Given the description of an element on the screen output the (x, y) to click on. 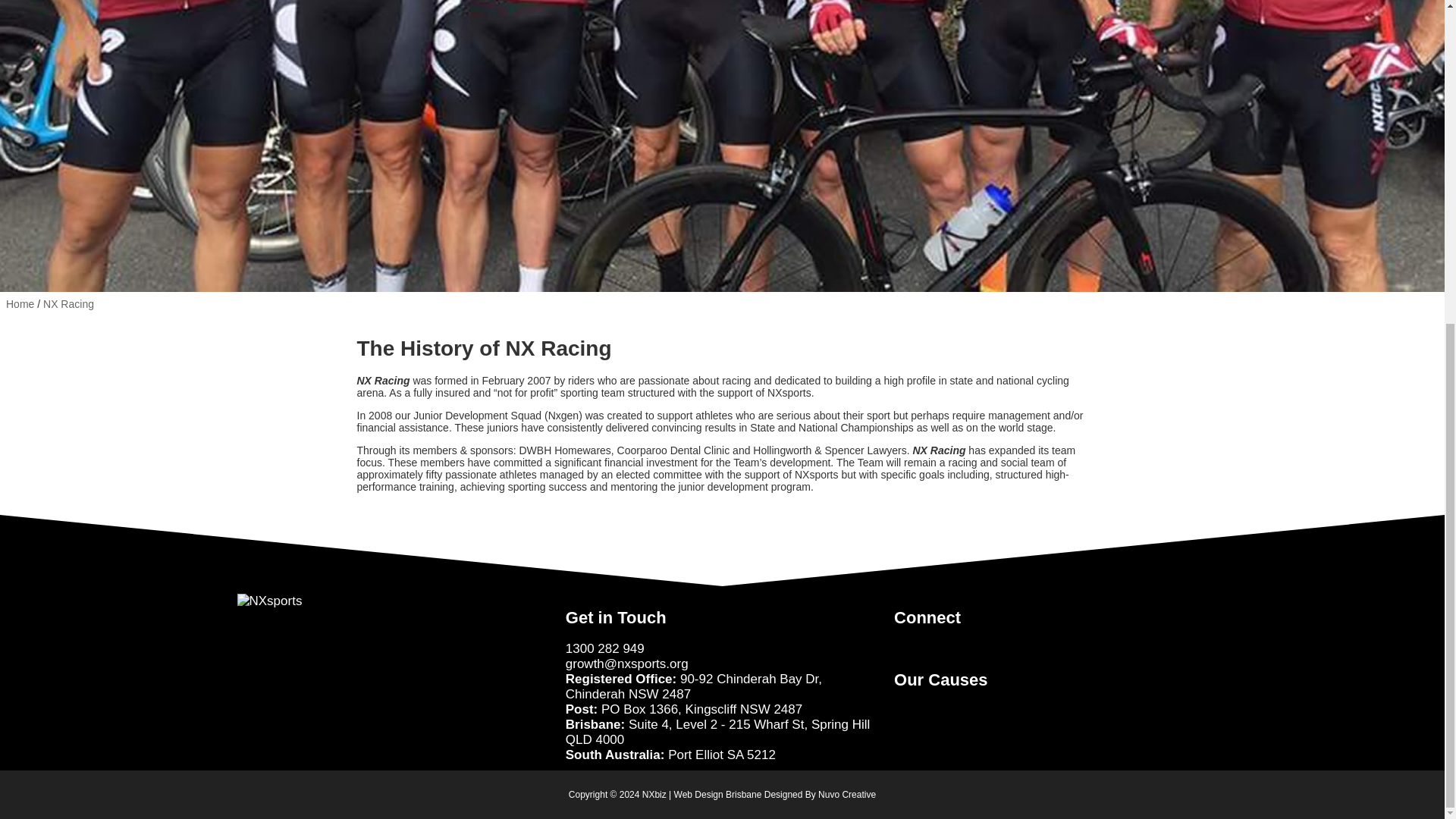
Home (19, 304)
NX Racing (68, 304)
